Given the description of an element on the screen output the (x, y) to click on. 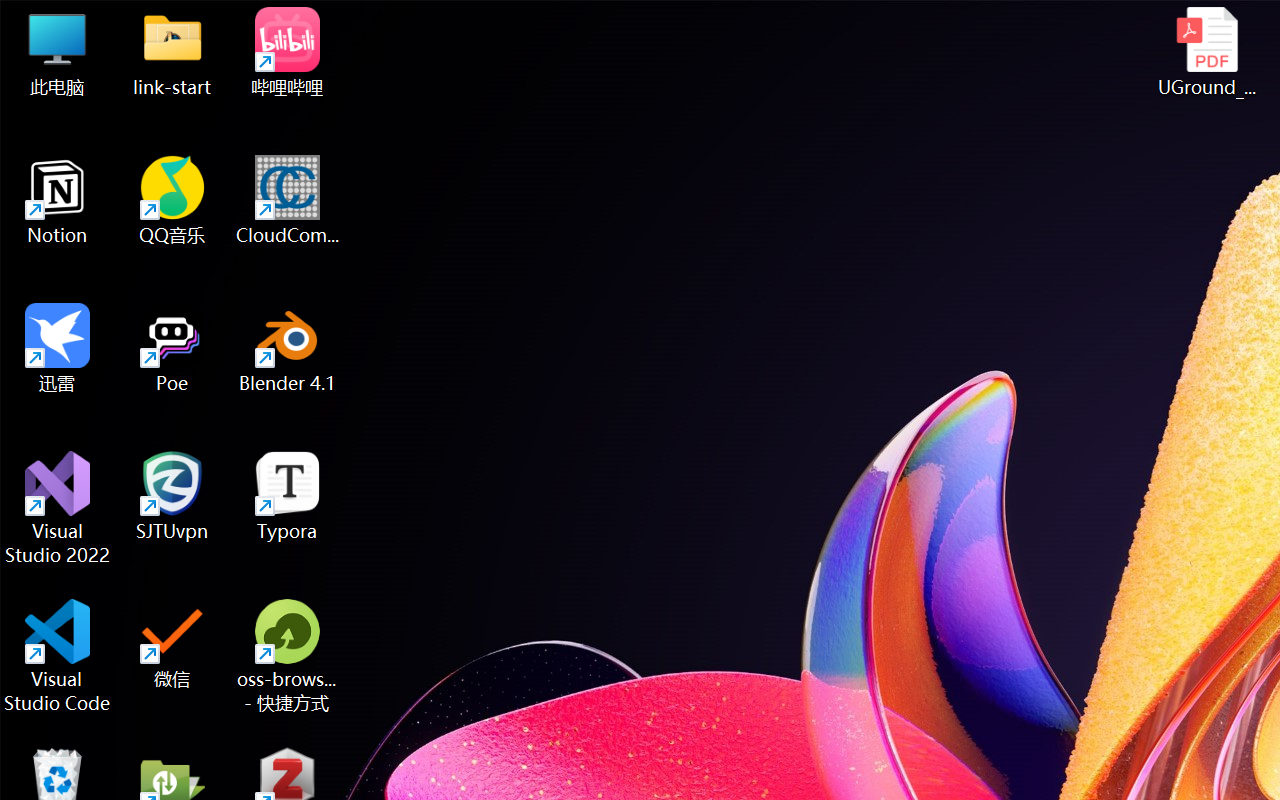
Blender 4.1 (287, 348)
UGround_paper.pdf (1206, 52)
Visual Studio 2022 (57, 508)
Typora (287, 496)
CloudCompare (287, 200)
Visual Studio Code (57, 656)
SJTUvpn (172, 496)
